Given the description of an element on the screen output the (x, y) to click on. 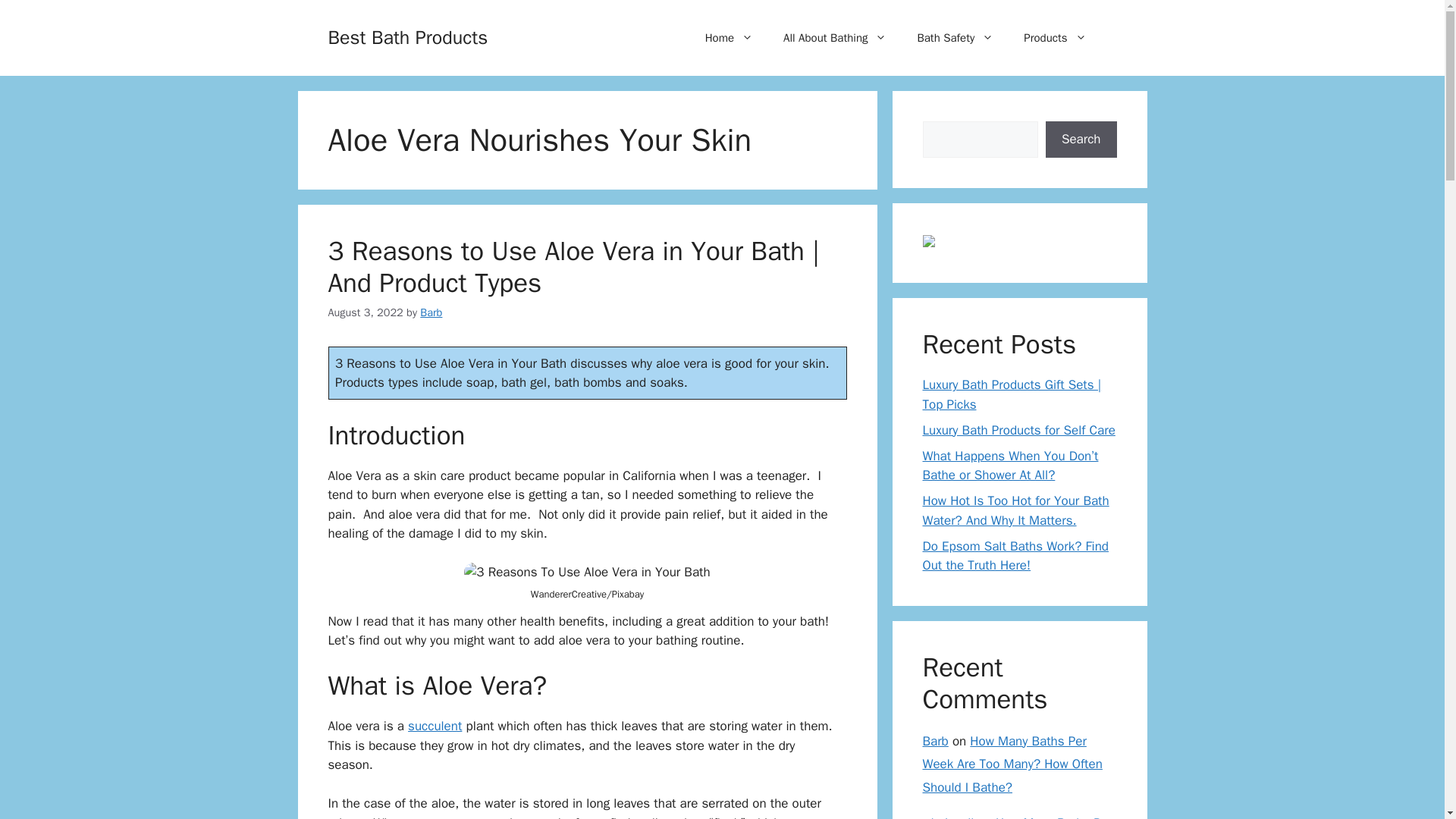
Home (729, 37)
Products (1054, 37)
Best Bath Products (407, 37)
View all posts by Barb (431, 312)
All About Bathing (834, 37)
Bath Safety (955, 37)
